Given the description of an element on the screen output the (x, y) to click on. 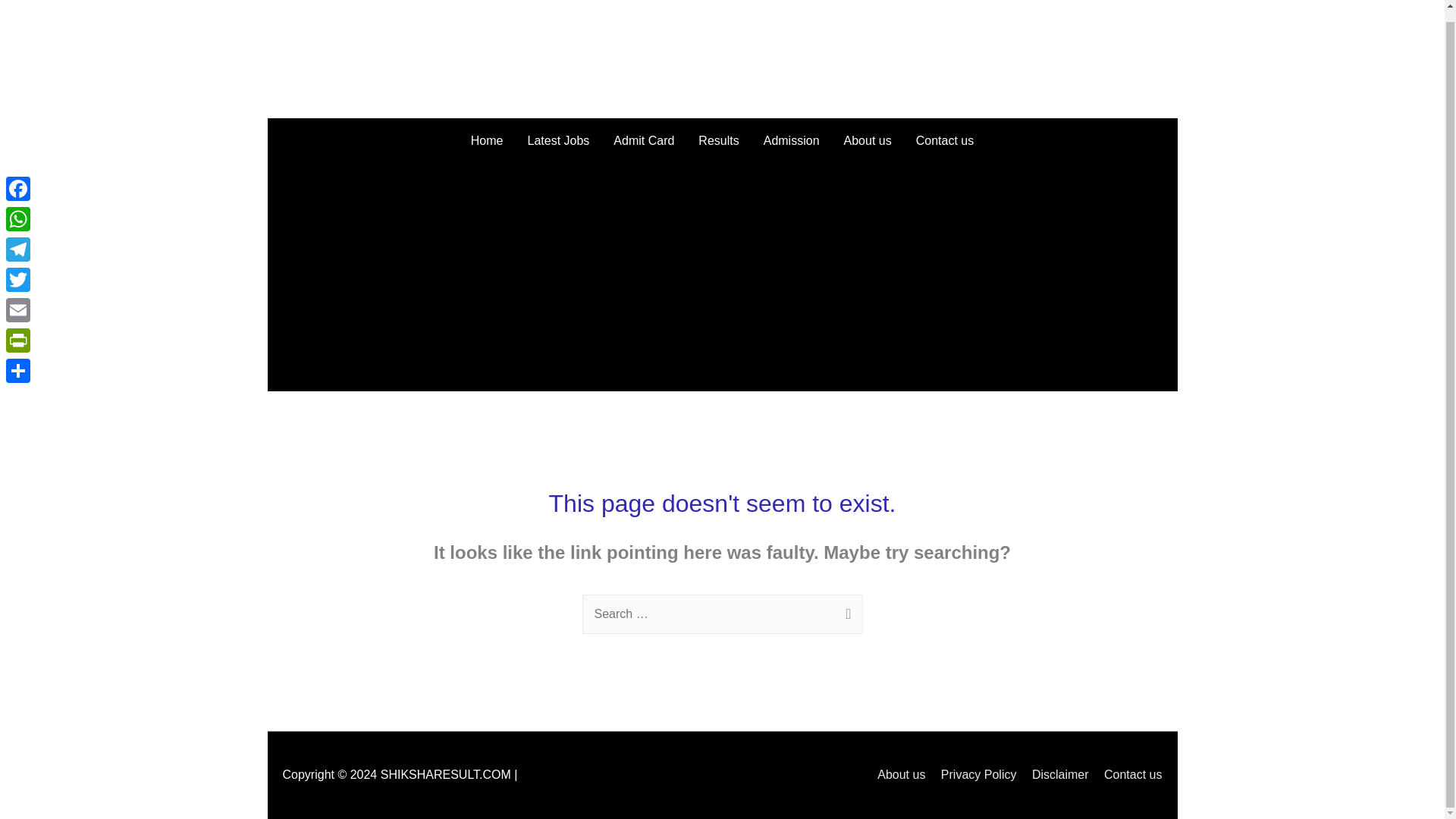
Twitter (17, 268)
WhatsApp (17, 207)
Contact us (944, 140)
Disclaimer (1054, 774)
Latest Jobs (558, 140)
Email (17, 298)
WhatsApp (17, 207)
Telegram (17, 237)
Facebook (17, 177)
Telegram (17, 237)
